Given the description of an element on the screen output the (x, y) to click on. 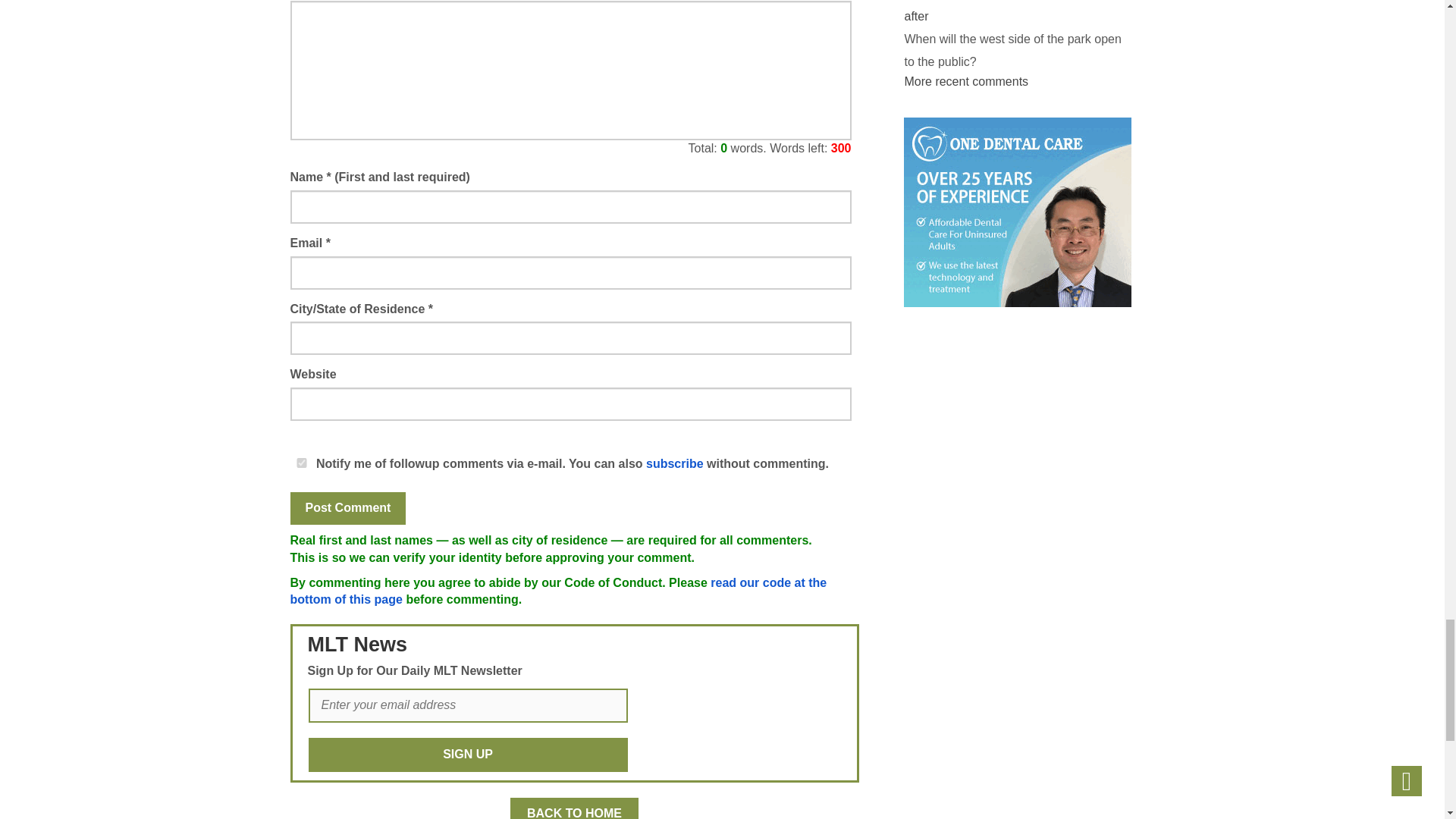
Sign Up (467, 754)
Post Comment (347, 508)
yes (301, 462)
